Given the description of an element on the screen output the (x, y) to click on. 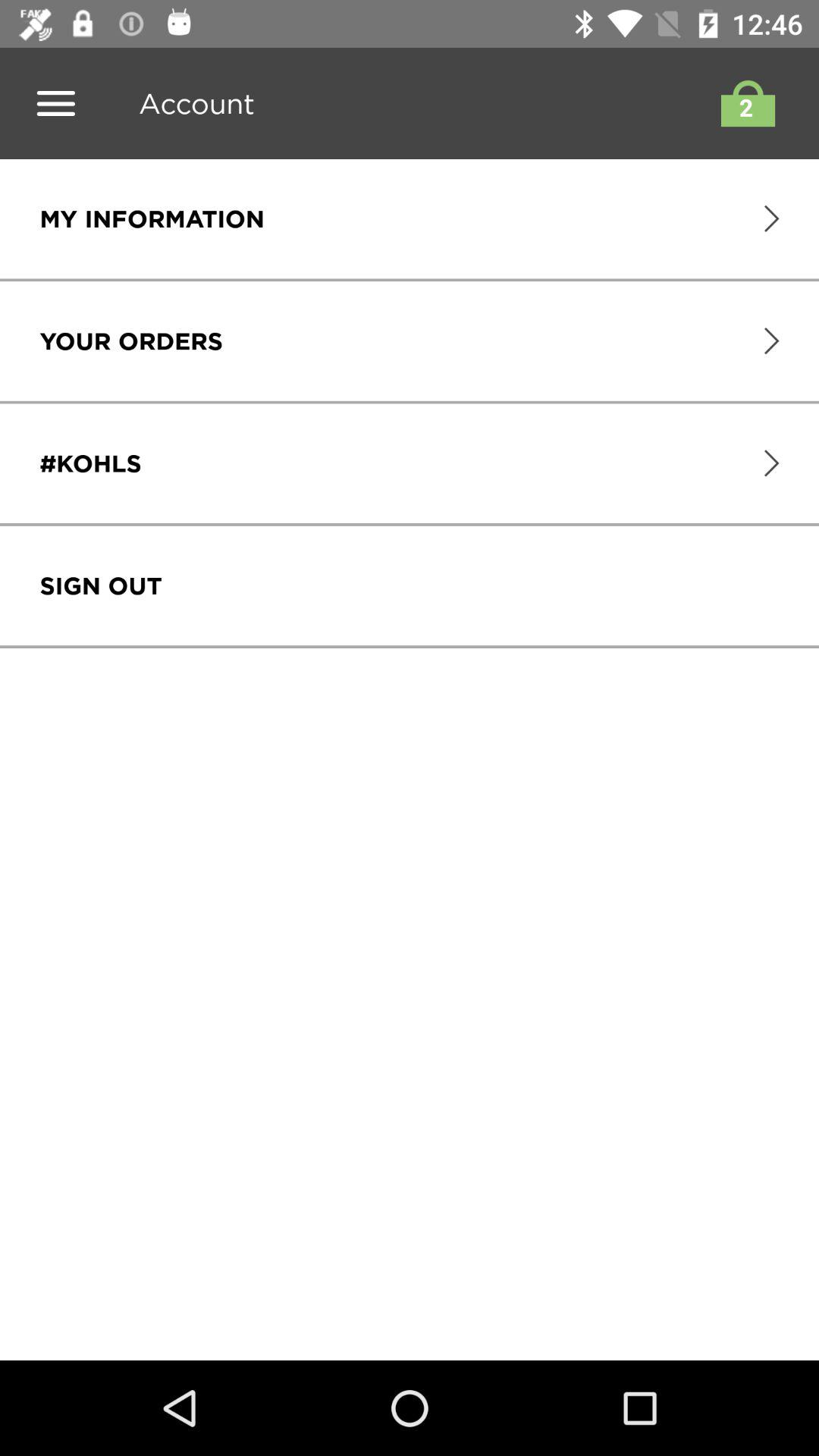
jump until sign out item (100, 585)
